Given the description of an element on the screen output the (x, y) to click on. 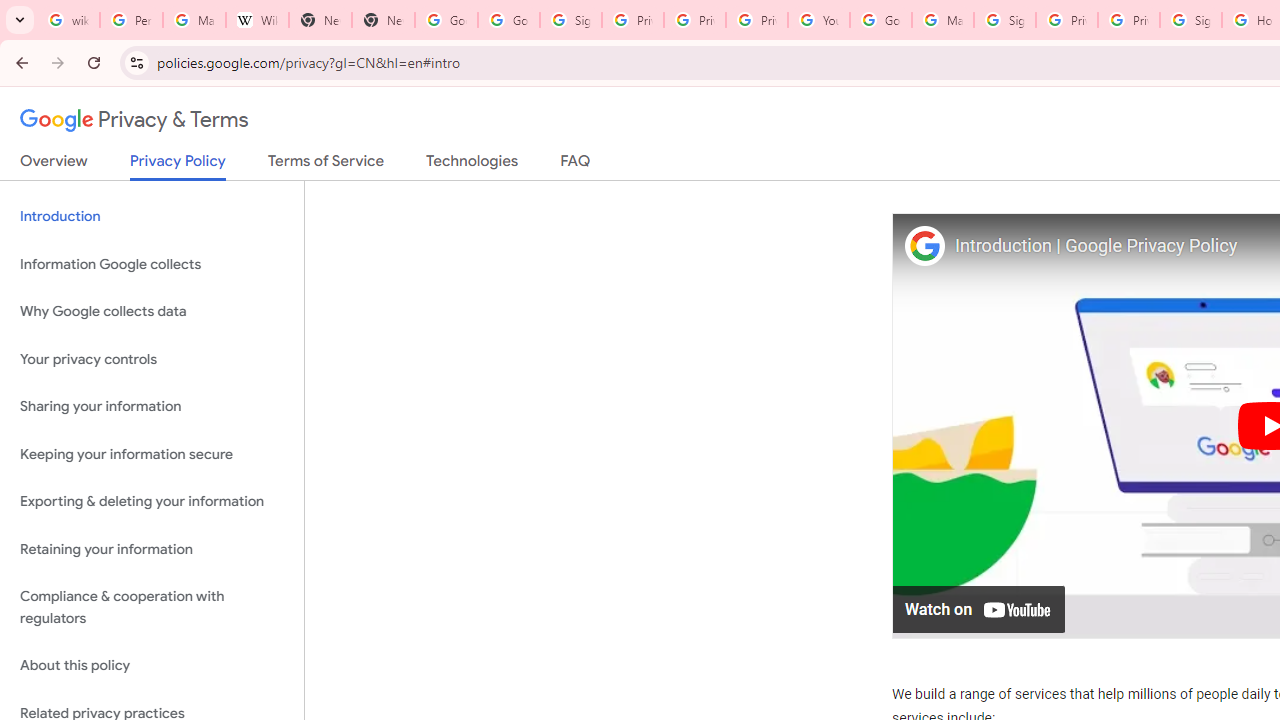
Exporting & deleting your information (152, 502)
About this policy (152, 666)
Keeping your information secure (152, 453)
Sign in - Google Accounts (1004, 20)
Introduction (152, 216)
Sign in - Google Accounts (1190, 20)
Terms of Service (326, 165)
